Given the description of an element on the screen output the (x, y) to click on. 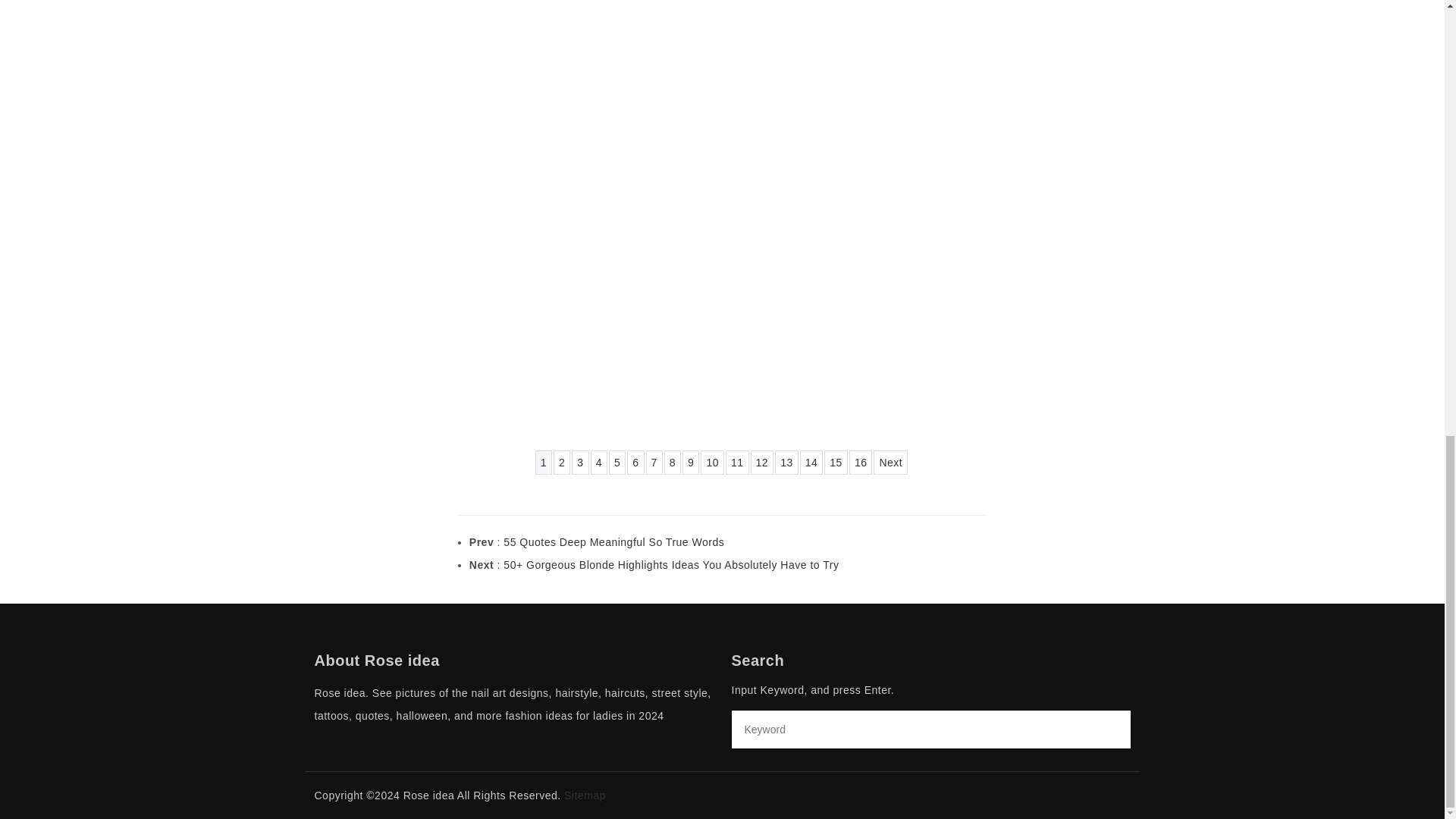
55 Quotes Deep Meaningful So True Words (613, 541)
9 (690, 462)
16 (860, 462)
Sitemap (584, 794)
55 Quotes Deep Meaningful So True Words (613, 541)
4 (599, 462)
6 (635, 462)
8 (672, 462)
12 (762, 462)
14 (811, 462)
3 (580, 462)
15 (835, 462)
5 (617, 462)
7 (654, 462)
2 (561, 462)
